Given the description of an element on the screen output the (x, y) to click on. 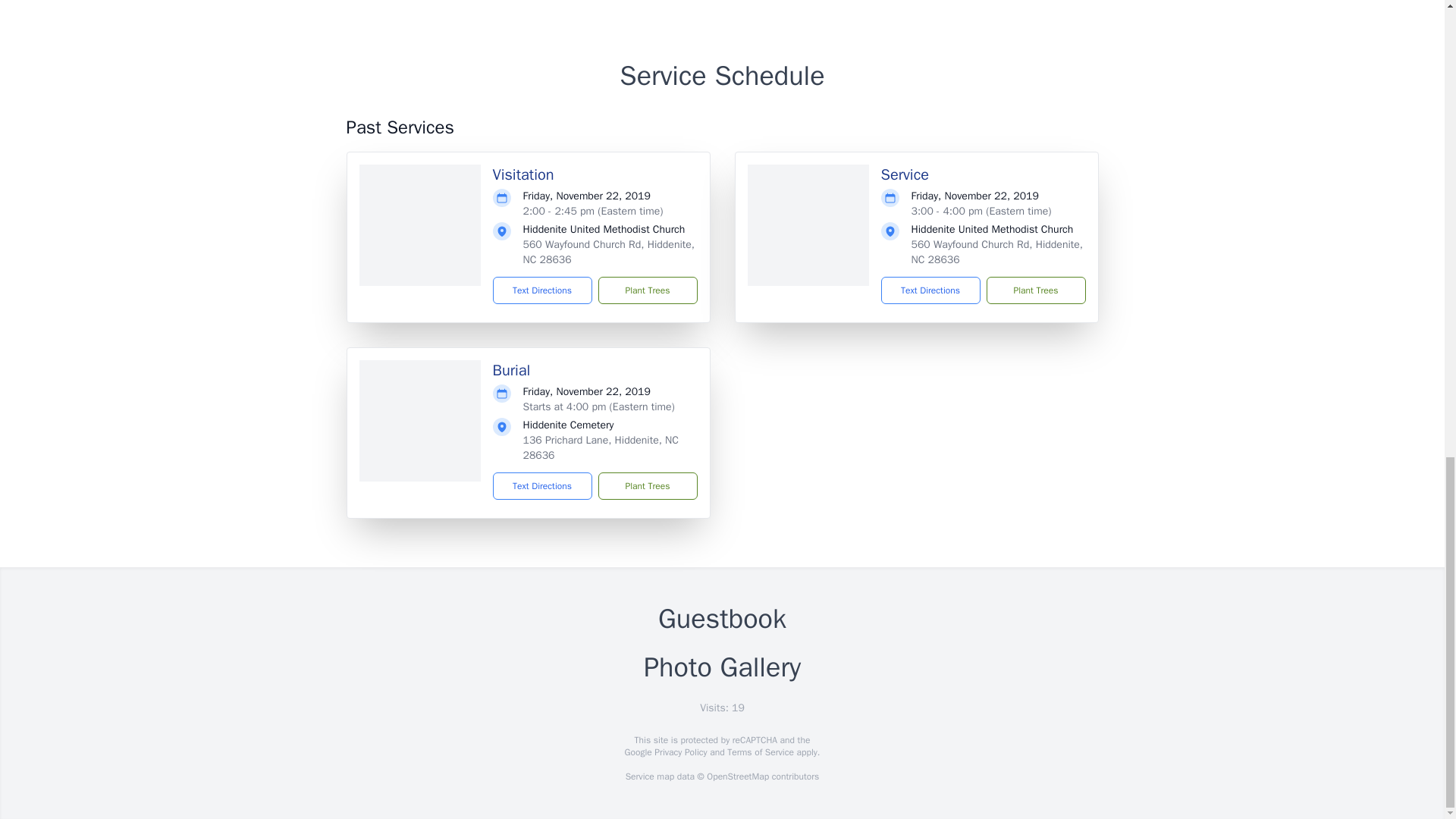
Plant Trees (1034, 289)
Text Directions (542, 485)
OpenStreetMap (737, 776)
Terms of Service (759, 752)
560 Wayfound Church Rd, Hiddenite, NC 28636 (997, 252)
Text Directions (929, 289)
136 Prichard Lane, Hiddenite, NC 28636 (600, 447)
Text Directions (542, 289)
Plant Trees (646, 289)
560 Wayfound Church Rd, Hiddenite, NC 28636 (608, 252)
